Given the description of an element on the screen output the (x, y) to click on. 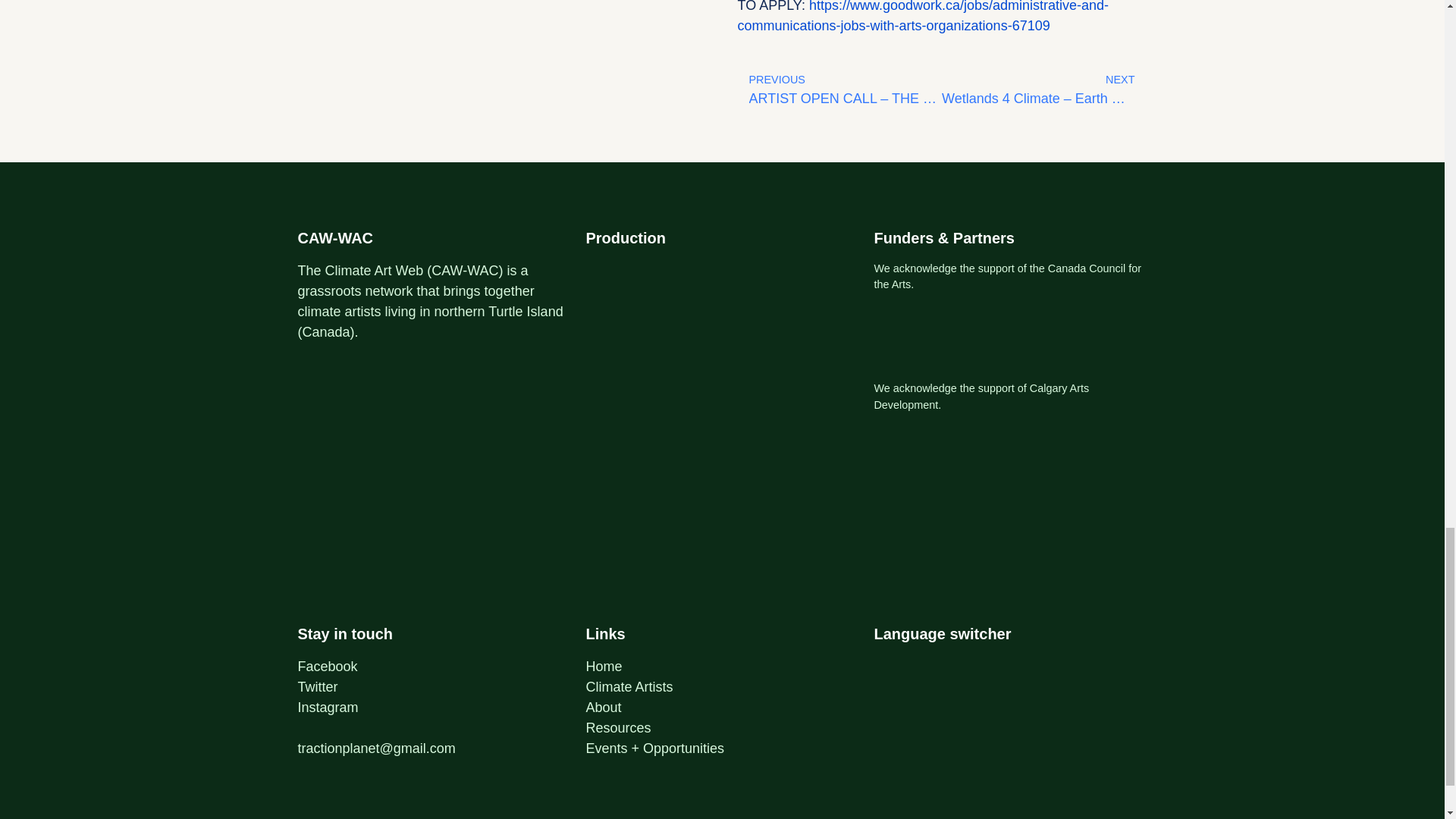
Climate Artists (628, 686)
Home (603, 666)
Resources (617, 727)
About (603, 707)
Twitter (317, 686)
Facebook (326, 666)
Instagram (327, 707)
